Given the description of an element on the screen output the (x, y) to click on. 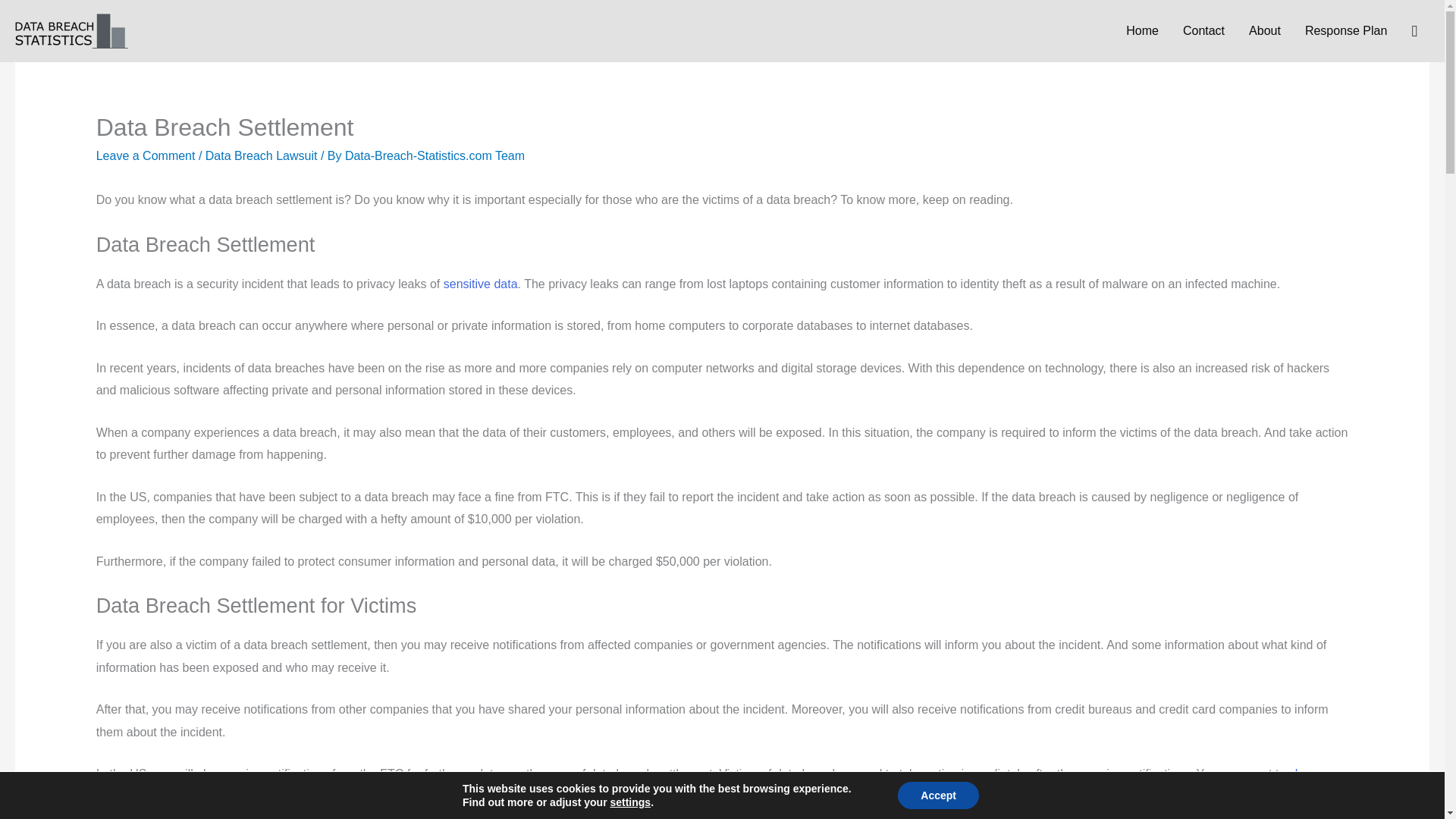
Data-Breach-Statistics.com Team (434, 155)
Data Breach Lawsuit (261, 155)
Contact (1203, 31)
About (1264, 31)
Leave a Comment (145, 155)
Home (1141, 31)
sensitive data (481, 283)
change your passwords (711, 785)
Search (18, 17)
View all posts by Data-Breach-Statistics.com Team (434, 155)
